Given the description of an element on the screen output the (x, y) to click on. 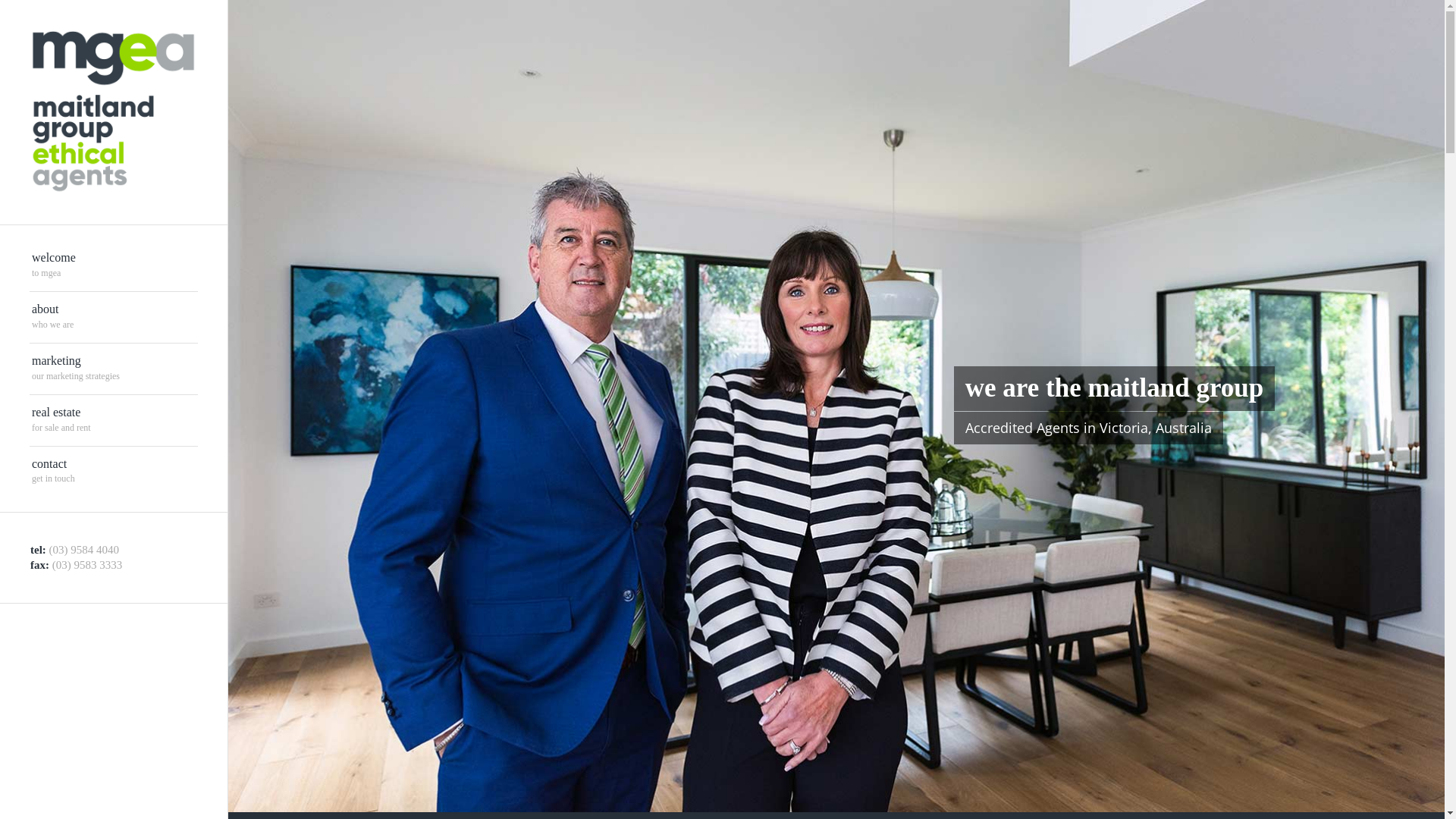
real estate
for sale and rent Element type: text (113, 420)
maitl Element type: hover (836, 406)
marketing
our marketing strategies Element type: text (113, 369)
welcome
to mgea Element type: text (113, 265)
about
who we are Element type: text (113, 317)
contact
get in touch Element type: text (113, 470)
